Given the description of an element on the screen output the (x, y) to click on. 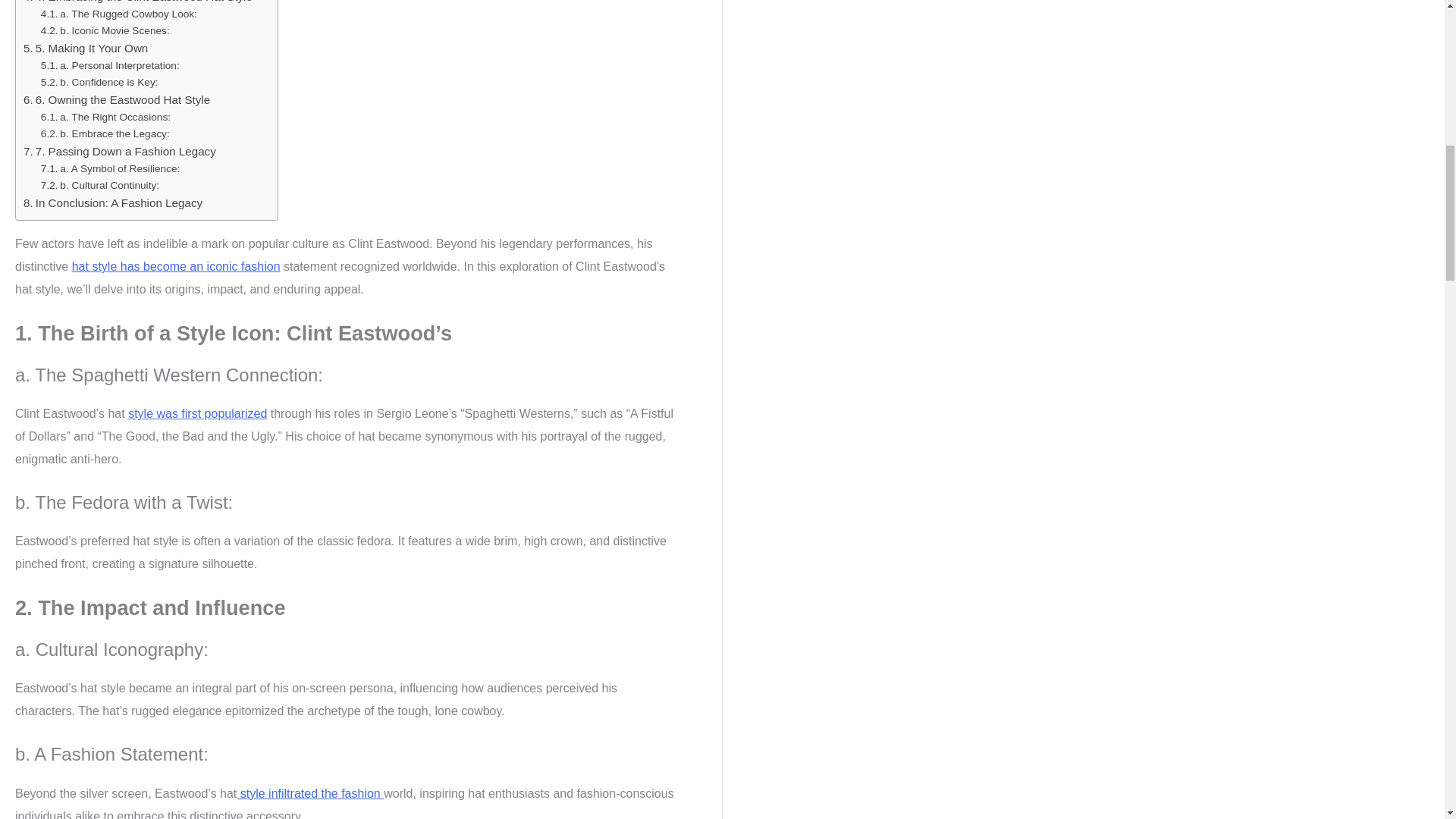
5. Making It Your Own (85, 48)
a. The Rugged Cowboy Look: (118, 13)
b. Confidence is Key: (99, 82)
6. Owning the Eastwood Hat Style (116, 99)
a. A Symbol of Resilience: (110, 168)
b. Iconic Movie Scenes: (105, 30)
4. Embracing the Clint Eastwood Hat Style (137, 2)
4. Embracing the Clint Eastwood Hat Style (137, 2)
b. Embrace the Legacy: (105, 134)
hat style has become an iconic fashion (176, 266)
